Given the description of an element on the screen output the (x, y) to click on. 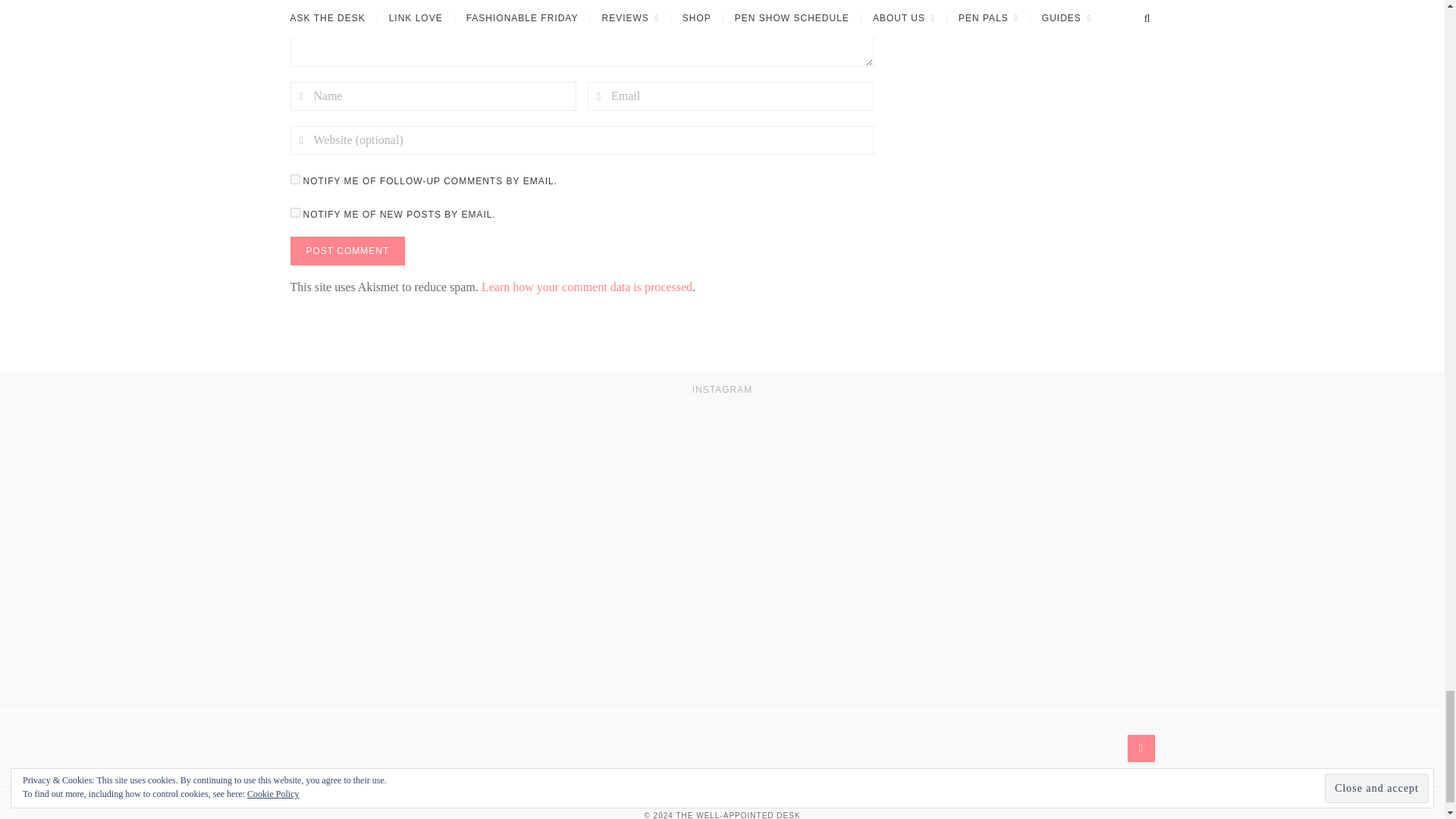
subscribe (294, 212)
subscribe (294, 179)
Post Comment (346, 250)
